Given the description of an element on the screen output the (x, y) to click on. 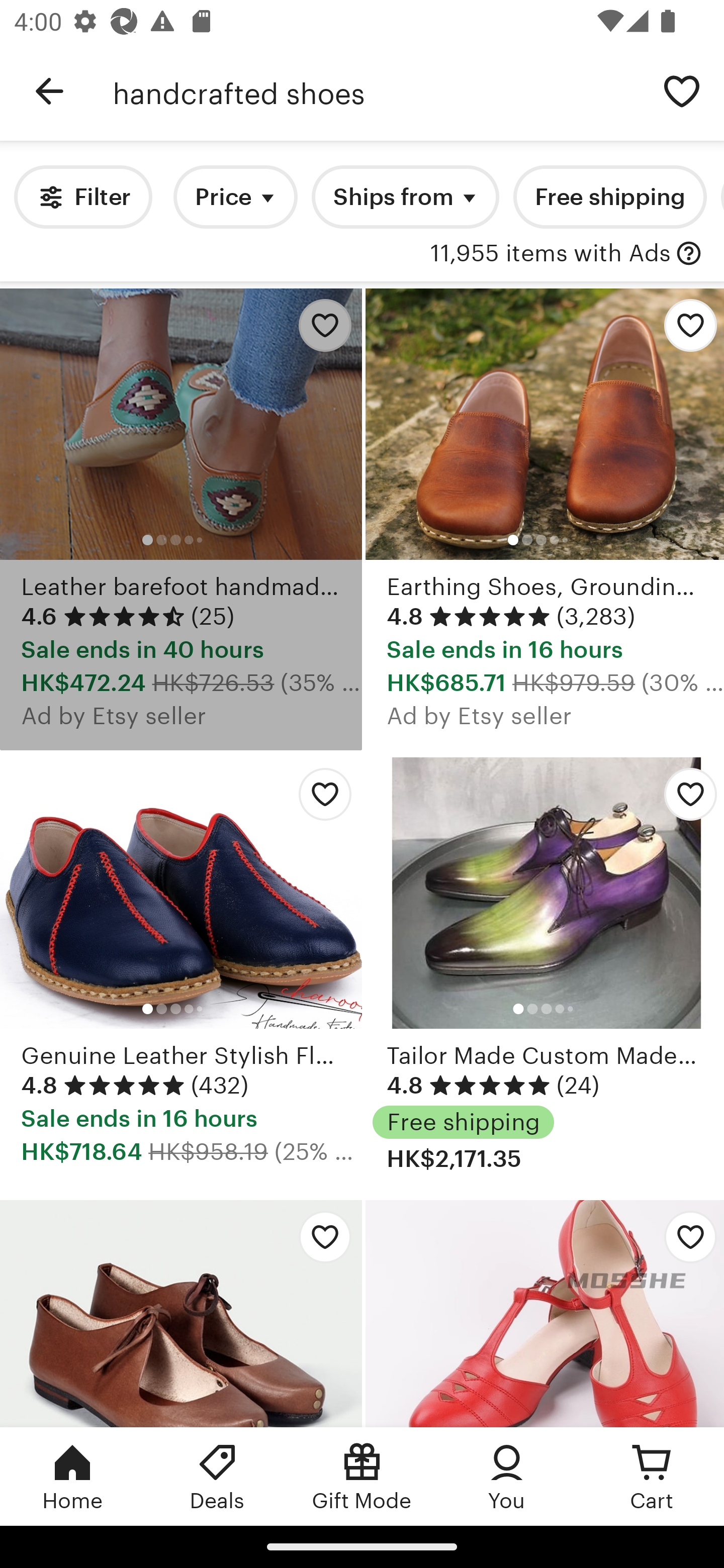
Navigate up (49, 91)
Save search (681, 90)
handcrafted shoes (375, 91)
Filter (82, 197)
Price (235, 197)
Ships from (405, 197)
Free shipping (609, 197)
11,955 items with Ads (550, 253)
with Ads (688, 253)
Deals (216, 1475)
Gift Mode (361, 1475)
You (506, 1475)
Cart (651, 1475)
